Given the description of an element on the screen output the (x, y) to click on. 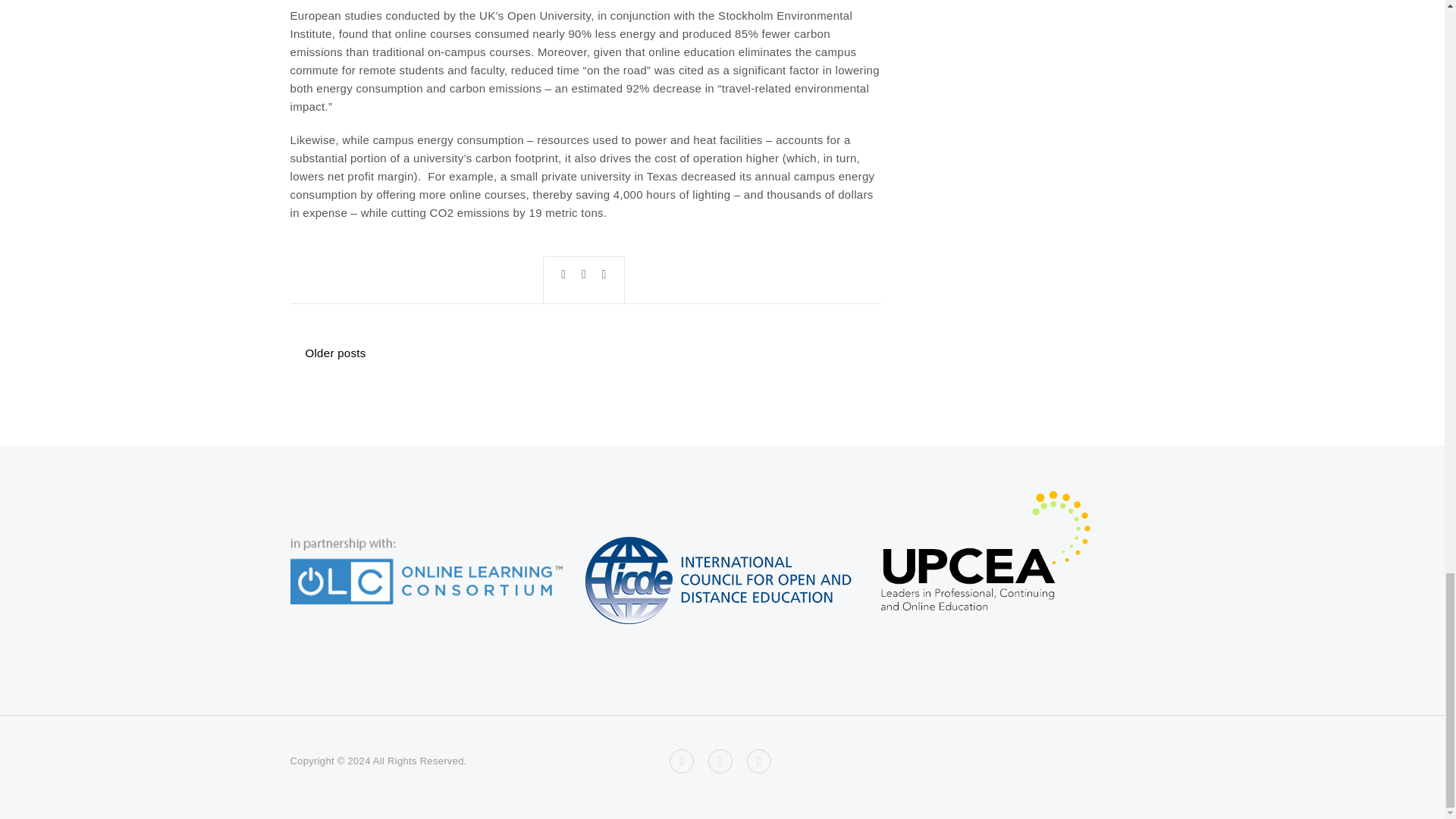
Older posts (334, 353)
